Given the description of an element on the screen output the (x, y) to click on. 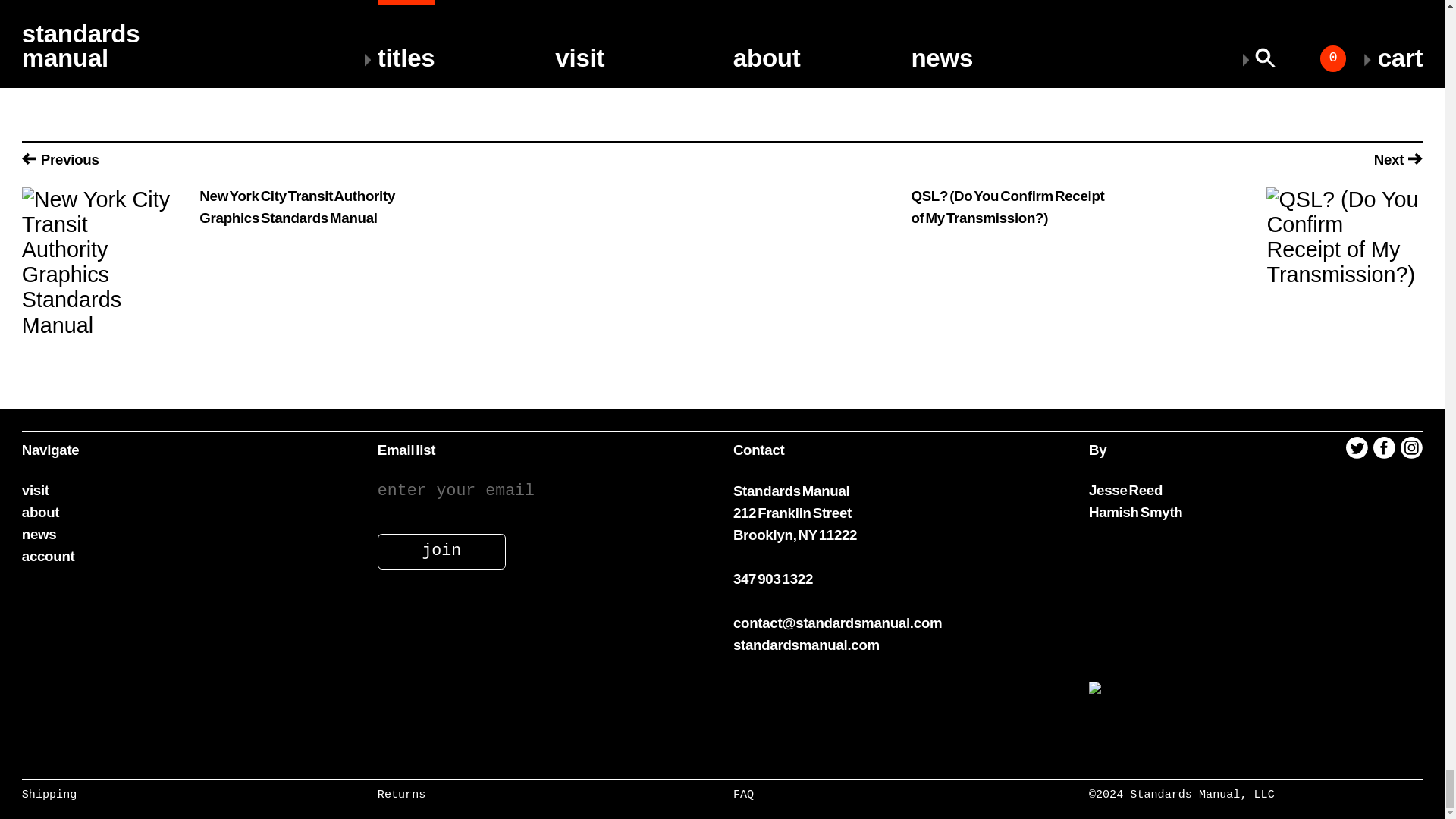
visit (35, 489)
news (38, 534)
about (40, 512)
Join (441, 551)
